Given the description of an element on the screen output the (x, y) to click on. 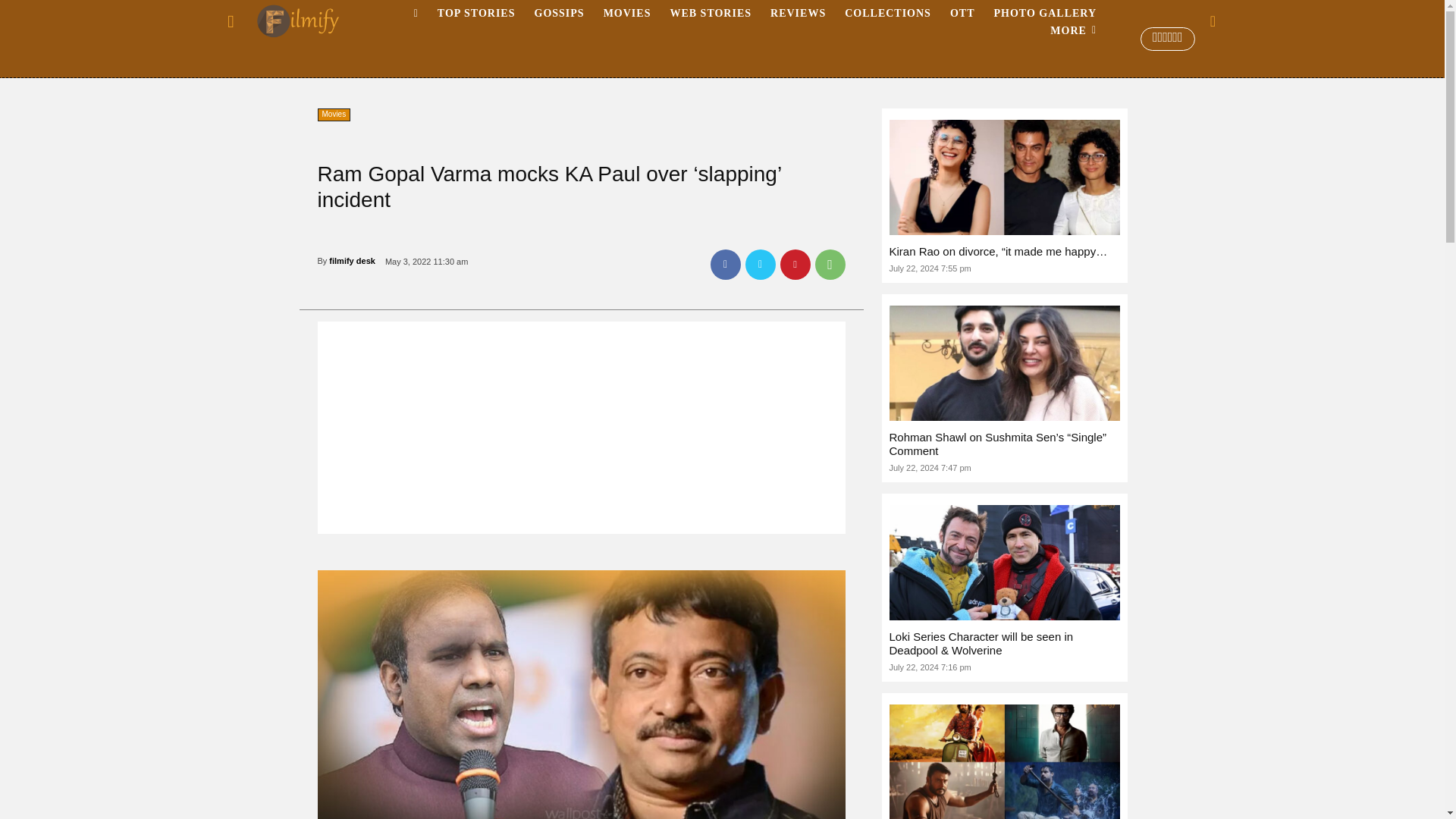
COLLECTIONS (888, 13)
Twitter (759, 264)
MOVIES (627, 13)
WEB STORIES (710, 13)
REVIEWS (797, 13)
Pinterest (793, 264)
WhatsApp (828, 264)
View all posts in Movies (365, 64)
GOSSIPS (558, 13)
Facebook (724, 264)
TOP STORIES (475, 13)
